Given the description of an element on the screen output the (x, y) to click on. 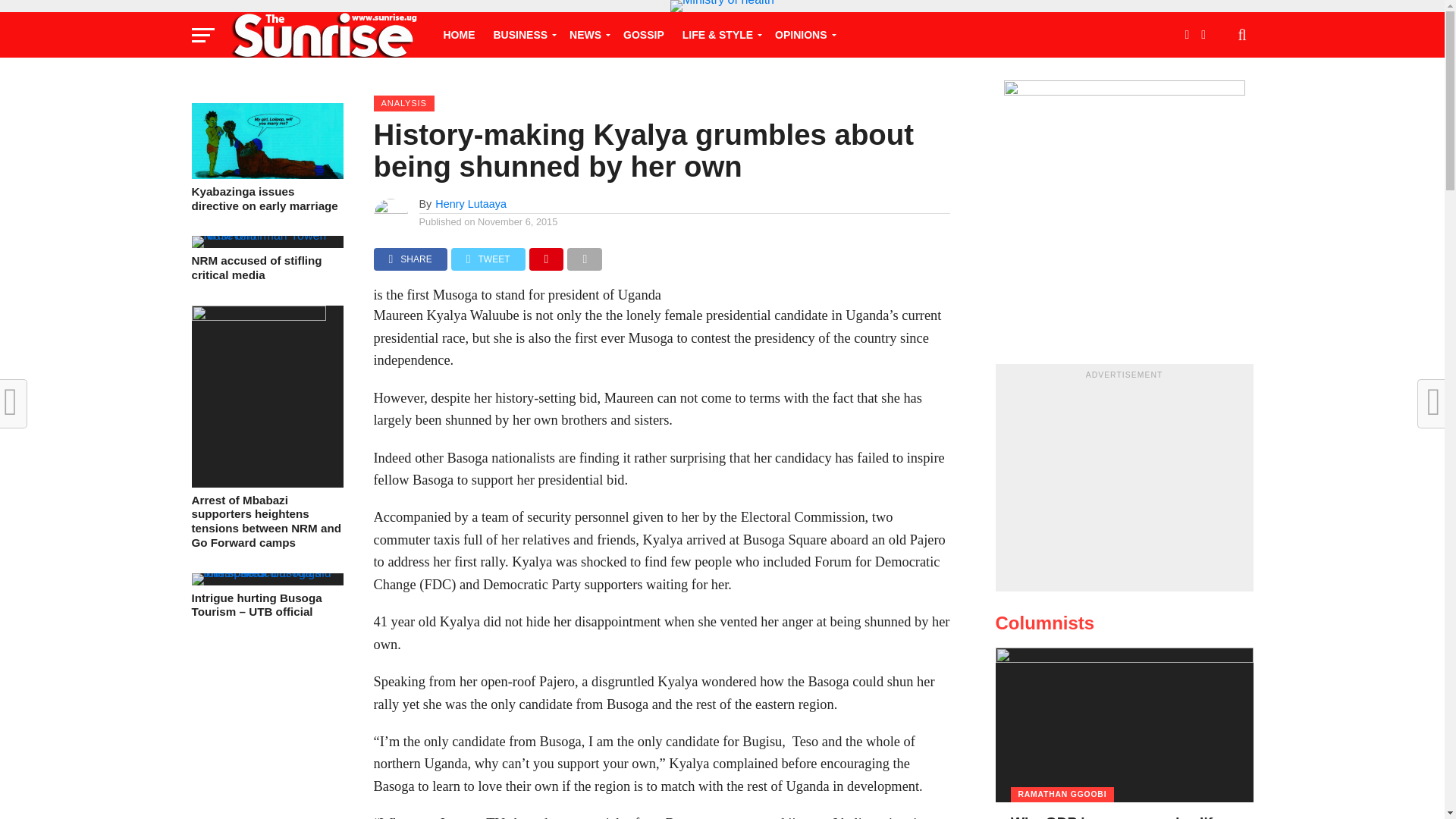
NRM accused of stifling critical media (266, 235)
NEWS (587, 34)
OPINIONS (802, 34)
HOME (458, 34)
BUSINESS (521, 34)
Posts by Henry Lutaaya (470, 203)
Kyabazinga issues directive on early marriage (266, 174)
GOSSIP (643, 34)
